Given the description of an element on the screen output the (x, y) to click on. 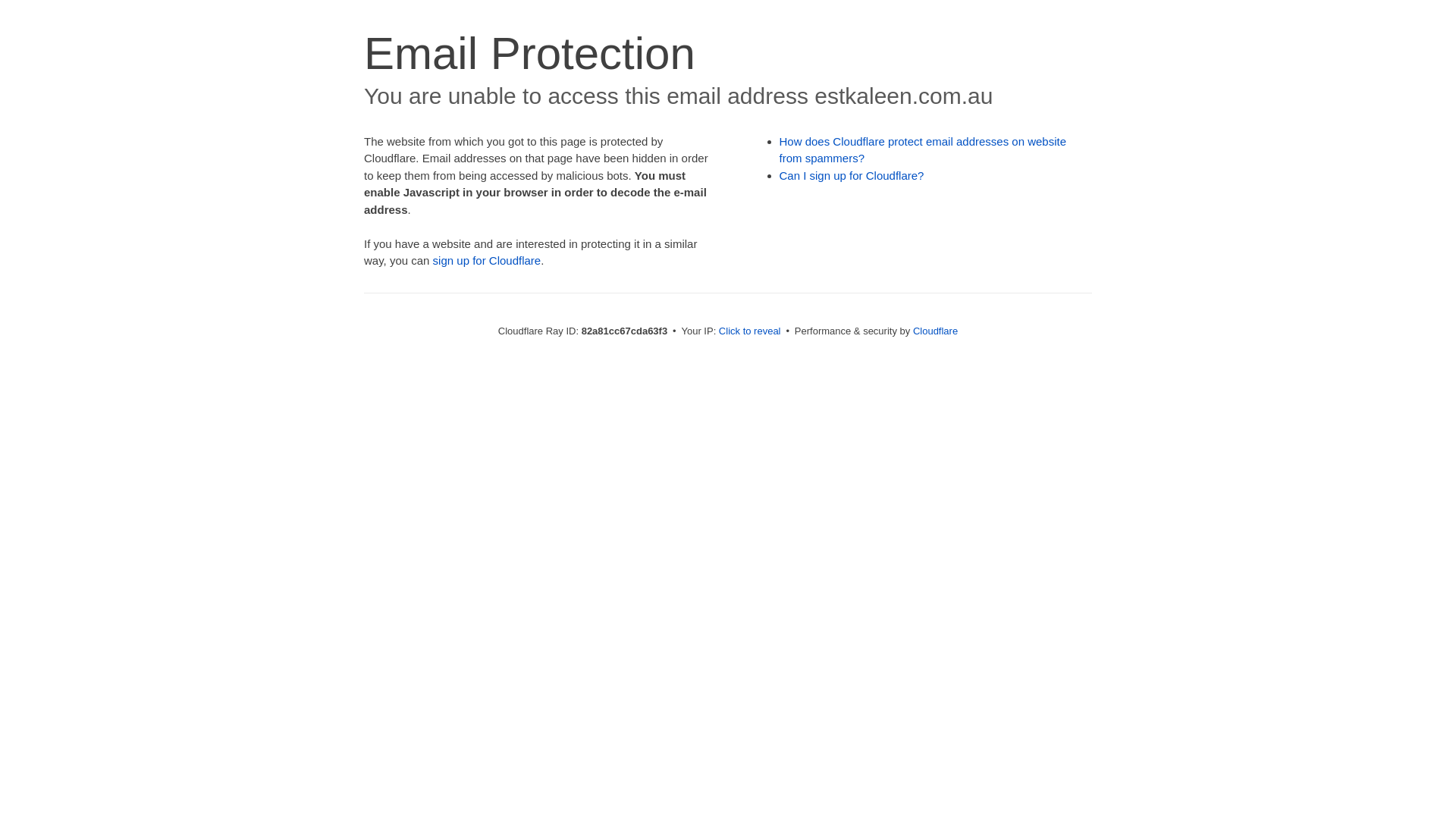
sign up for Cloudflare Element type: text (487, 260)
Click to reveal Element type: text (749, 330)
Can I sign up for Cloudflare? Element type: text (851, 175)
Cloudflare Element type: text (935, 330)
